Given the description of an element on the screen output the (x, y) to click on. 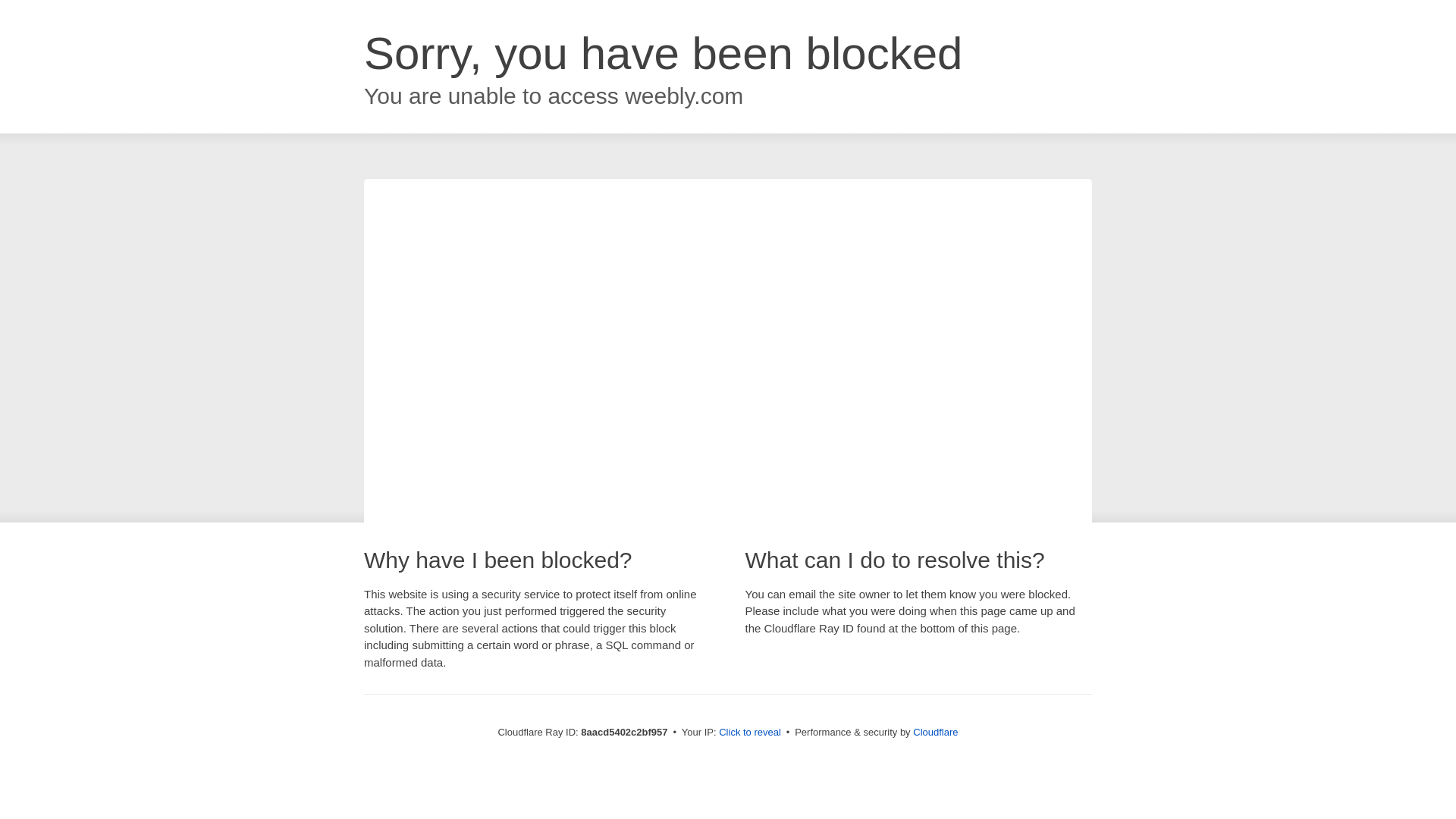
Click to reveal (749, 732)
Cloudflare (935, 731)
